Given the description of an element on the screen output the (x, y) to click on. 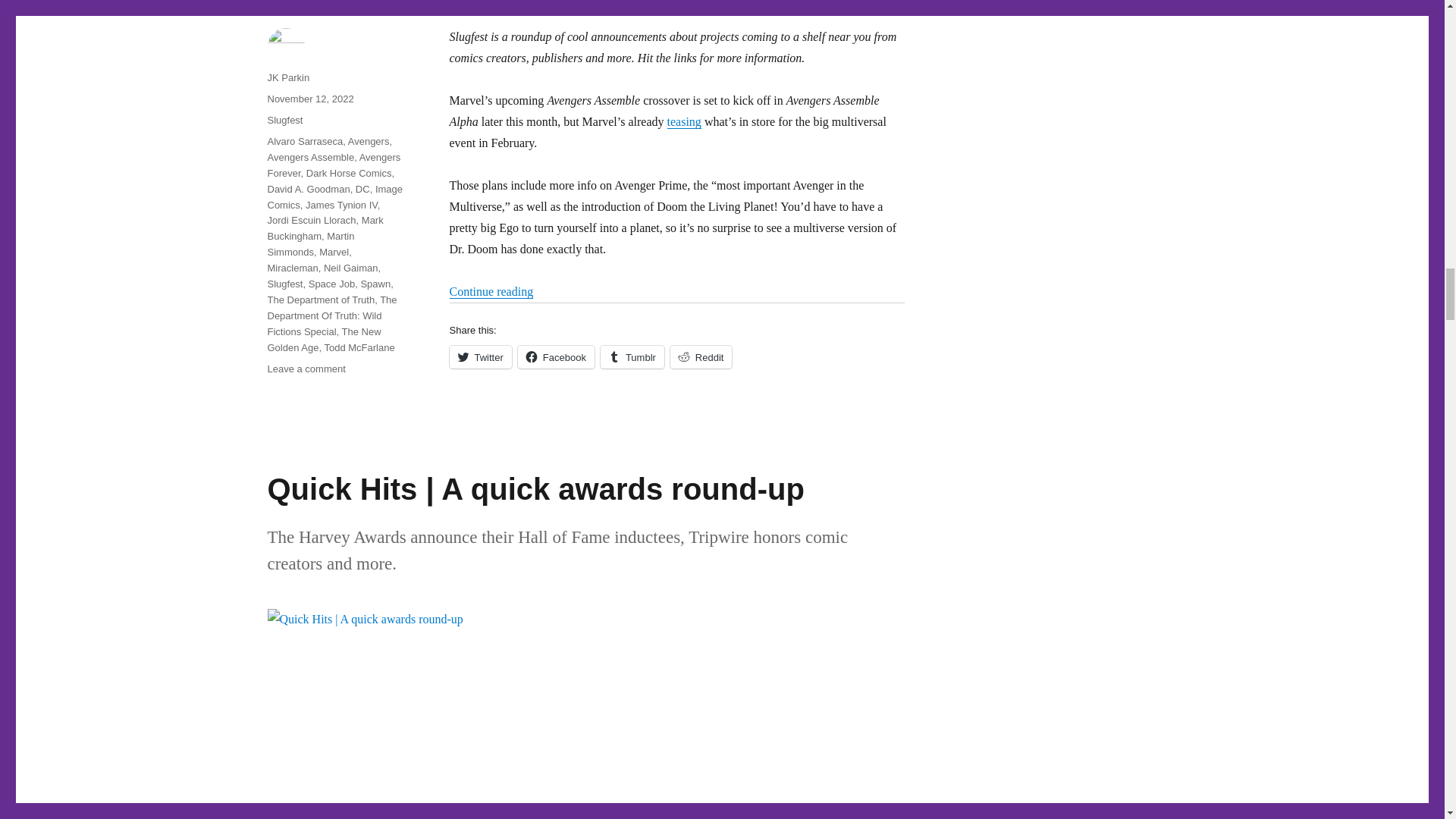
Click to share on Tumblr (631, 356)
Click to share on Twitter (479, 356)
Click to share on Facebook (556, 356)
